Given the description of an element on the screen output the (x, y) to click on. 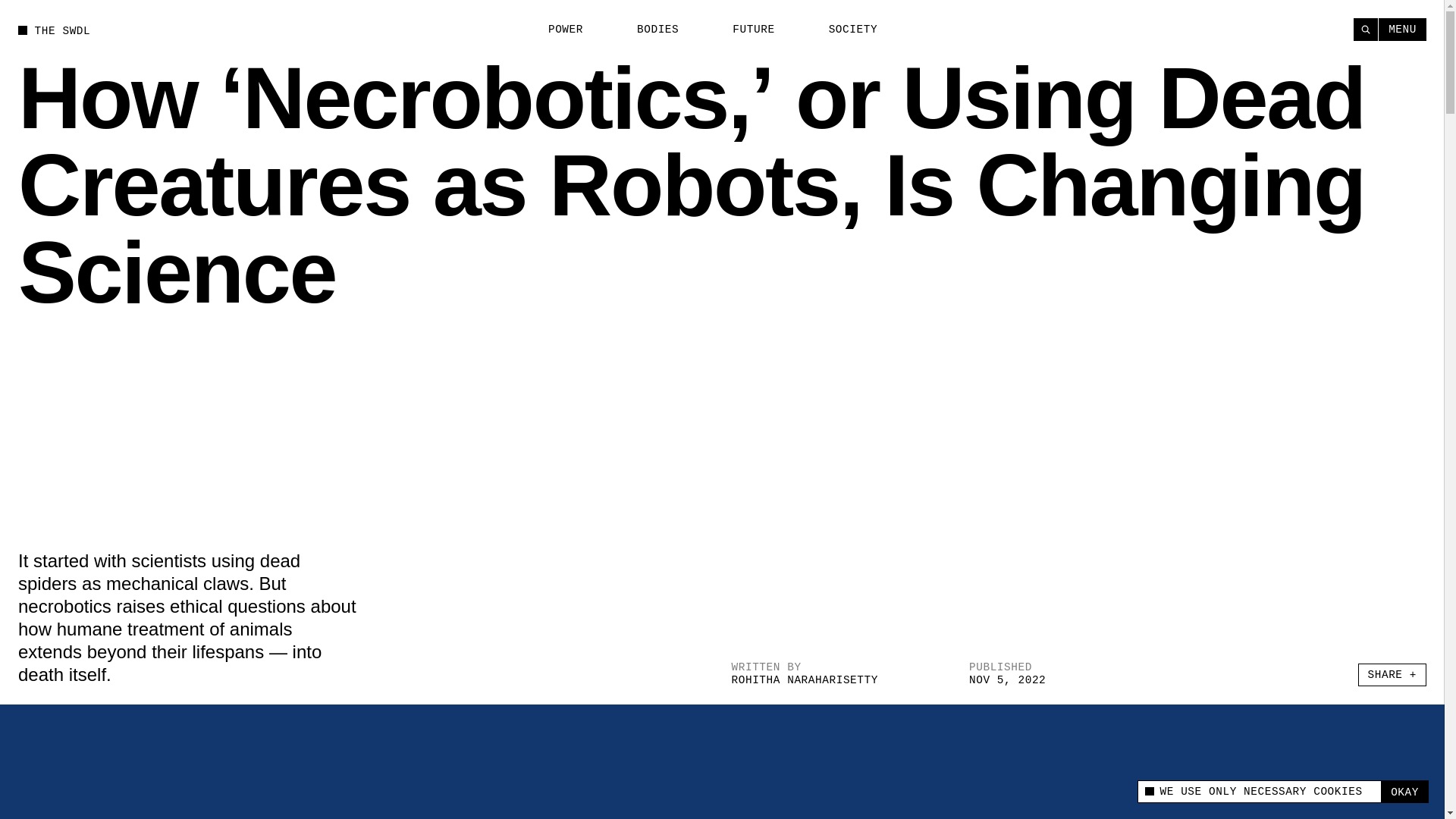
SOCIETY (843, 29)
OKAY (1404, 791)
POWER (557, 29)
WE USE ONLY NECESSARY COOKIES (1259, 791)
BODIES (649, 29)
MENU (1402, 29)
ROHITHA NARAHARISETTY (803, 680)
FUTURE (744, 29)
THE SWDL (53, 29)
